Given the description of an element on the screen output the (x, y) to click on. 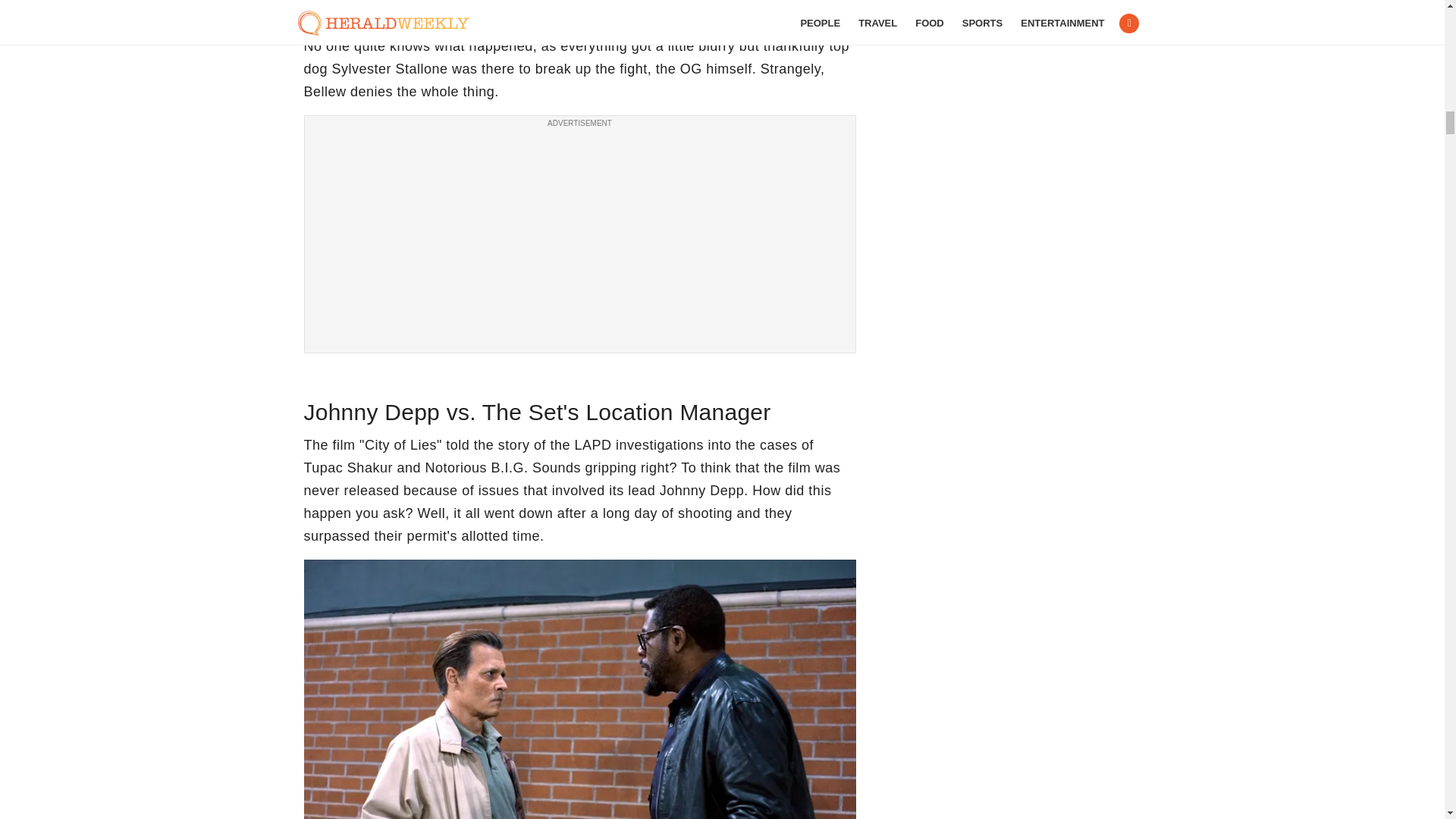
Tony Bellew vs. Corner Coach (579, 4)
